Given the description of an element on the screen output the (x, y) to click on. 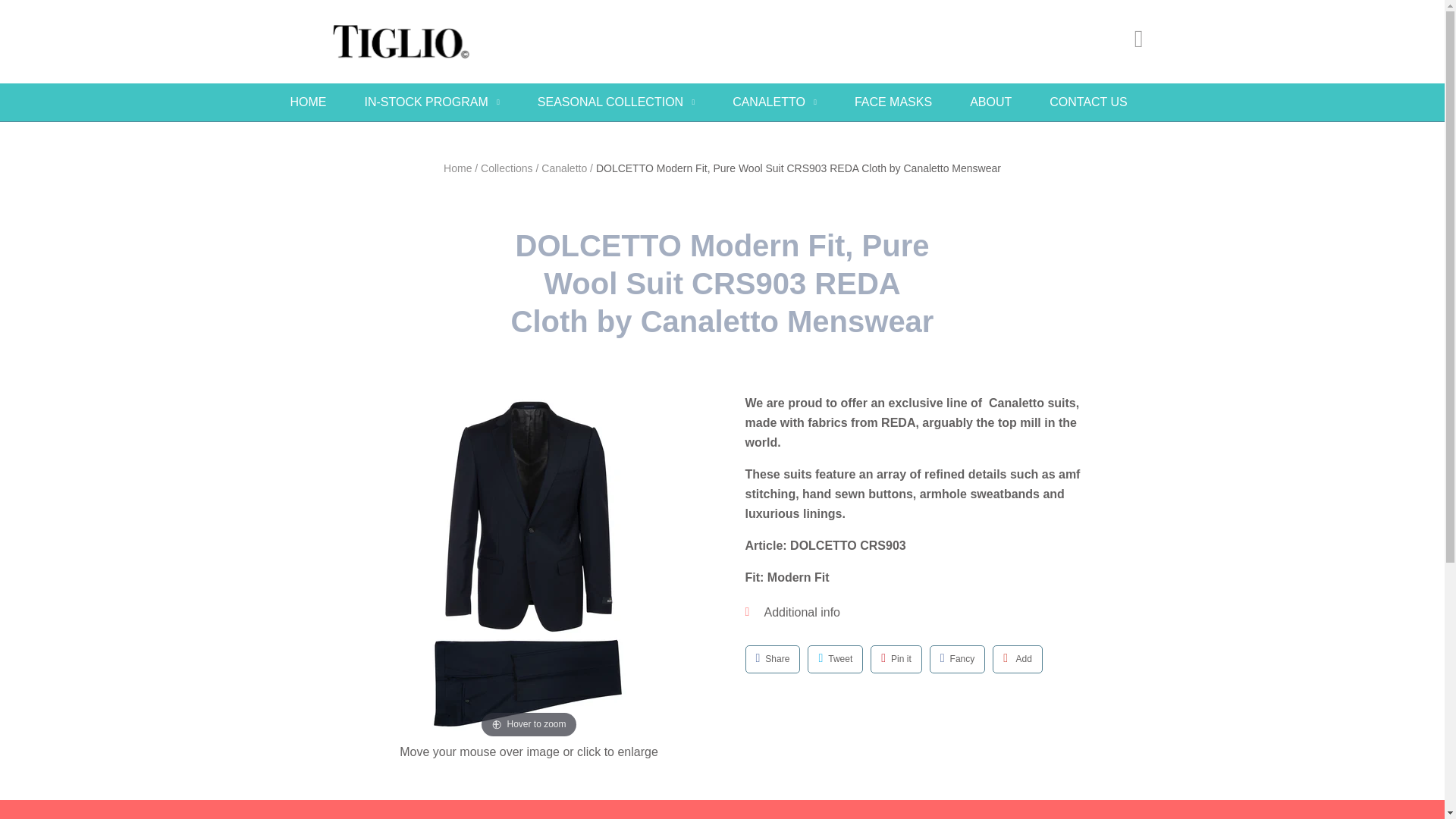
SEASONAL COLLECTION (615, 101)
IN-STOCK PROGRAM (431, 101)
HOME (307, 101)
CANALETTO (774, 101)
